Given the description of an element on the screen output the (x, y) to click on. 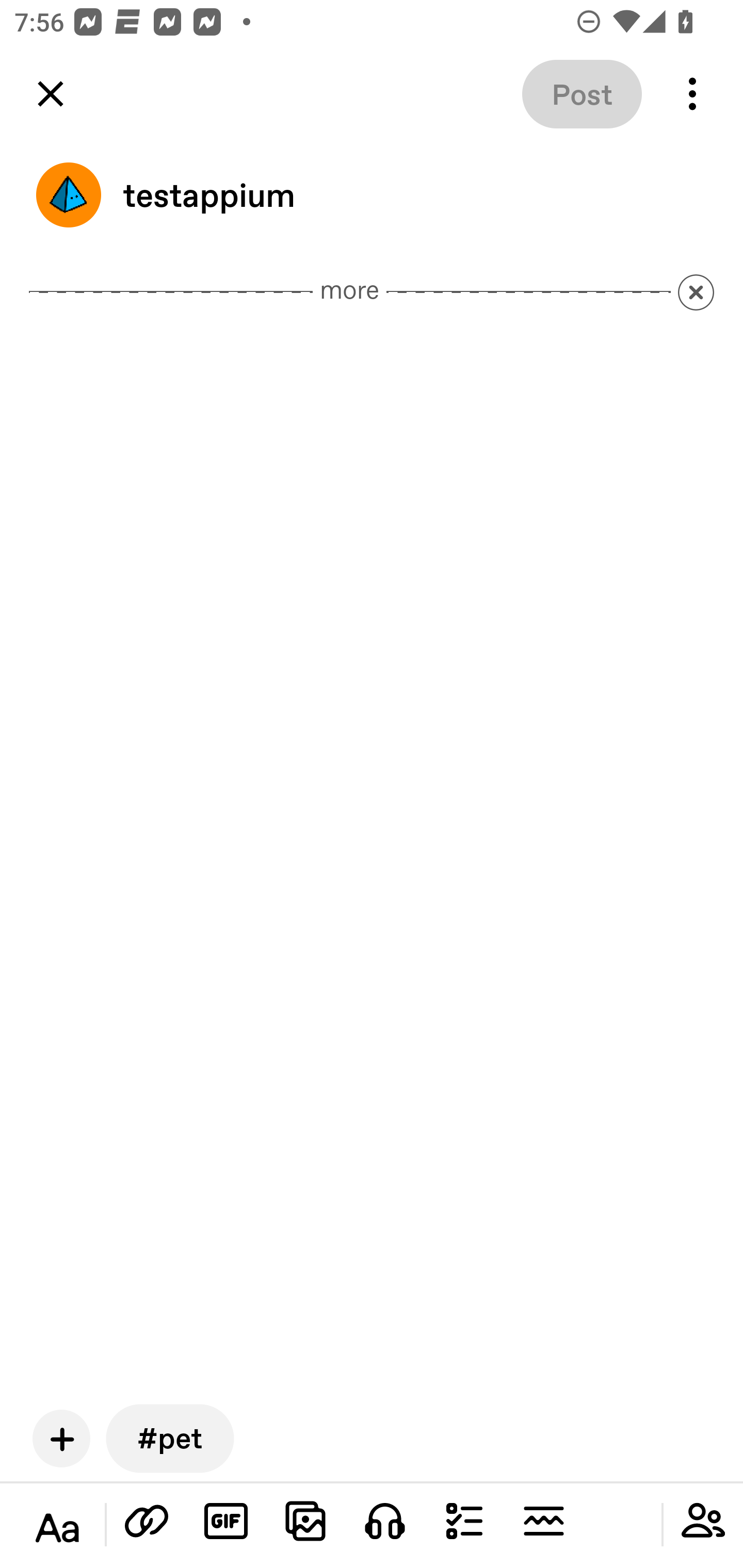
Navigate up (50, 93)
Post (581, 93)
Blog Selector testappium (371, 195)
#pet (169, 1438)
Add text to post (146, 1520)
Add GIF to post (225, 1520)
Add Photo to post (305, 1520)
Add Audio to post (384, 1520)
Add Poll to post (463, 1520)
Add read-more link to post (543, 1520)
Add community label for post (703, 1520)
Add text to post (57, 1528)
